Given the description of an element on the screen output the (x, y) to click on. 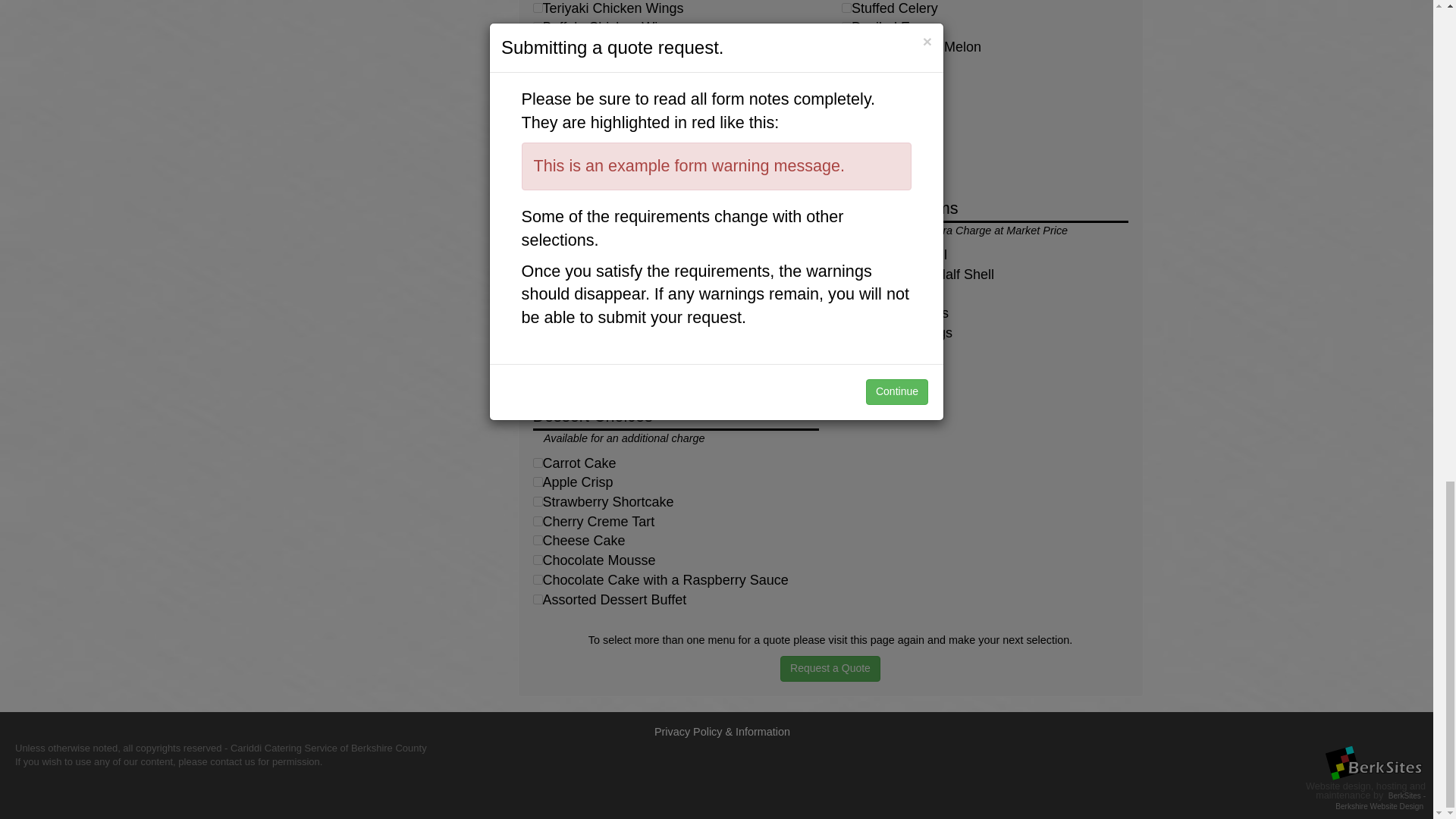
Baked Stuffed Clams (536, 104)
Request a Quote (830, 668)
Barbecued Cocktail Franks (536, 163)
Buffalo Chicken Wings (536, 26)
Pigs in a Blanket (536, 143)
BerkSites - Berkshire Website Design (1380, 800)
Scallops Wrapped in Bacon (536, 46)
Teriyaki Chicken Wings (536, 8)
Barbecue Baby Back Ribs (536, 85)
Stuffed Potato Skins (536, 66)
